Given the description of an element on the screen output the (x, y) to click on. 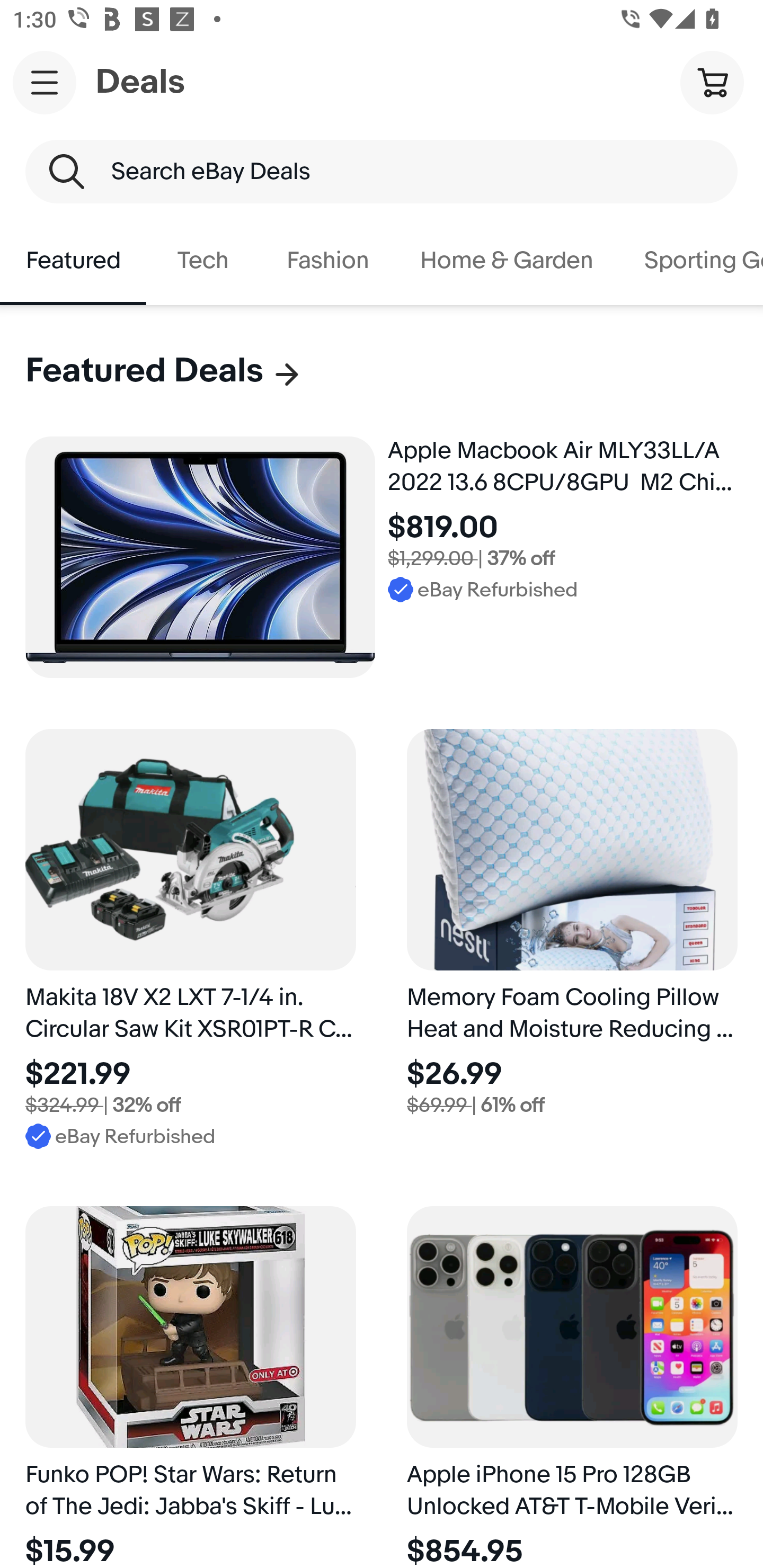
Main navigation, open (44, 82)
Cart button shopping cart (711, 81)
Search eBay Deals Search Keyword Search eBay Deals (381, 171)
Tech. Button. 2 of 7. Tech (203, 260)
Fashion. Button. 3 of 7. Fashion (327, 260)
Home & Garden. Button. 4 of 7. Home & Garden (506, 260)
Featured Deals   Featured Deals,7 items (163, 370)
